Given the description of an element on the screen output the (x, y) to click on. 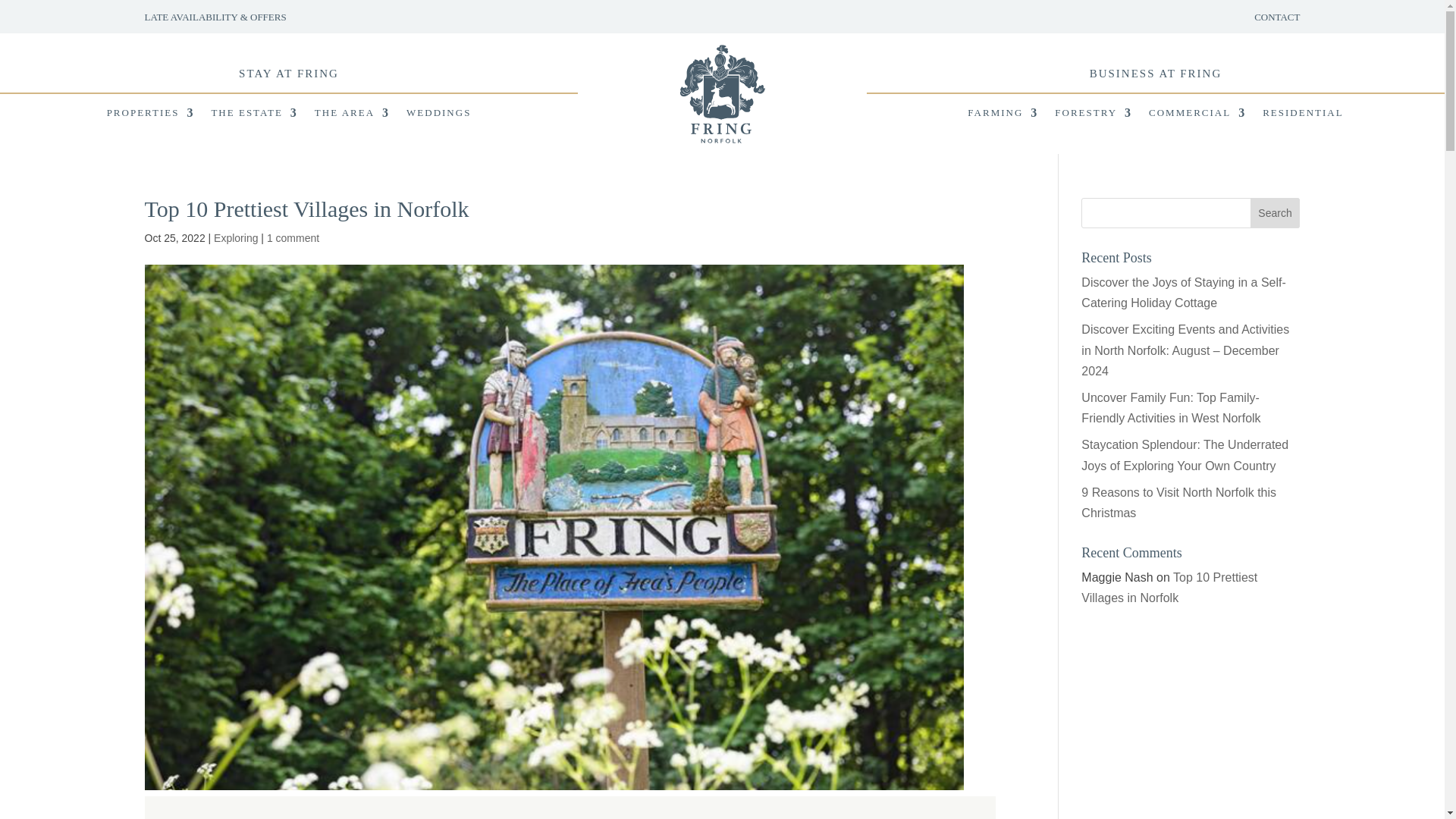
THE AREA (352, 115)
FORESTRY (1093, 115)
FARMING (1003, 115)
CONTACT (1276, 16)
PROPERTIES (150, 115)
Search (1275, 213)
THE ESTATE (254, 115)
WEDDINGS (438, 115)
